Given the description of an element on the screen output the (x, y) to click on. 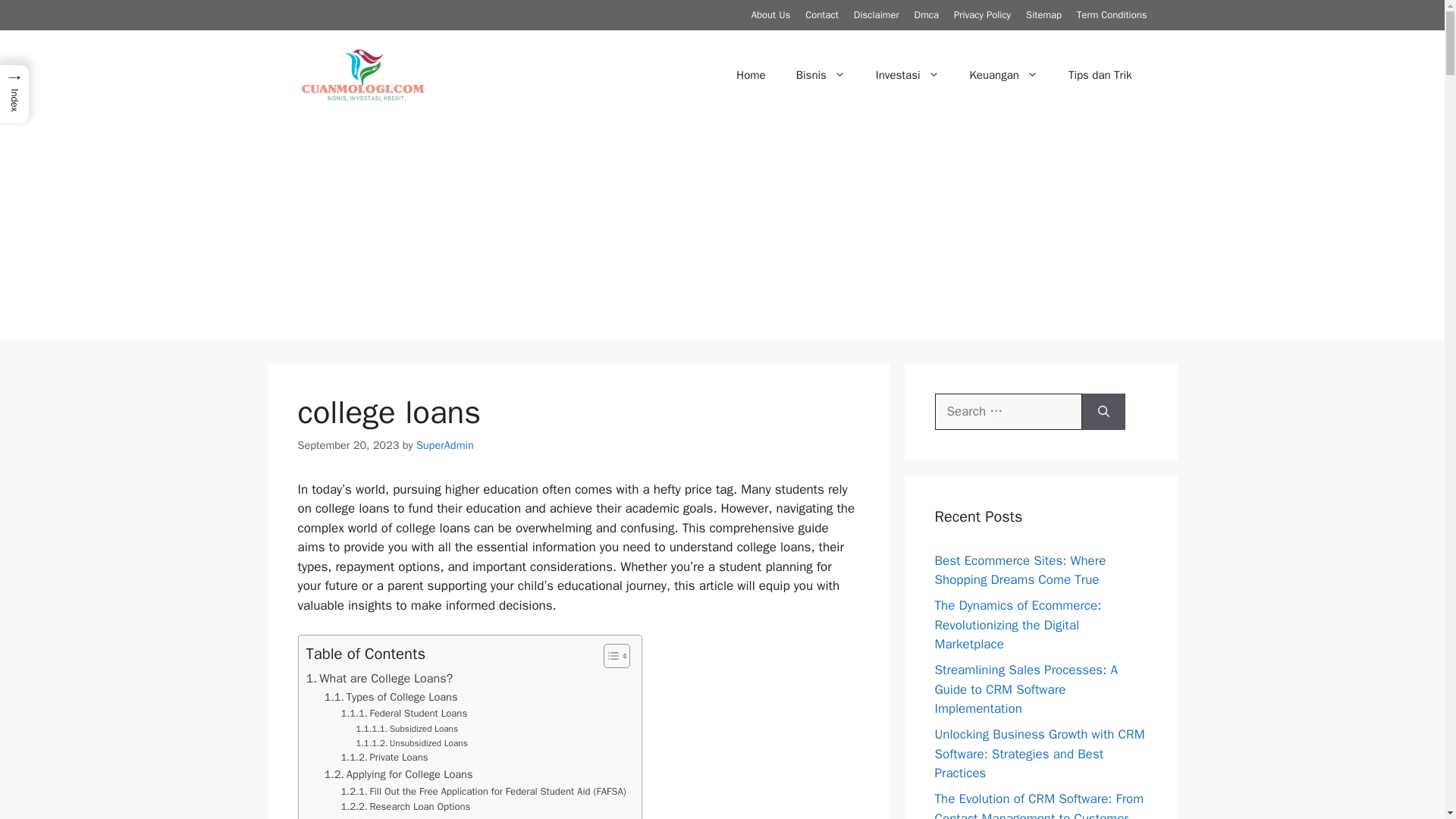
Subsidized Loans (406, 728)
Types of College Loans (391, 696)
Term Conditions (1112, 14)
Private Loans (384, 757)
Dmca (926, 14)
Tips dan Trik (1099, 74)
Federal Student Loans (403, 713)
Research Loan Options (405, 806)
What are College Loans? (378, 678)
Investasi (907, 74)
What are College Loans? (378, 678)
Unsubsidized Loans (411, 743)
Disclaimer (876, 14)
Federal Student Loans (403, 713)
Sitemap (1043, 14)
